Given the description of an element on the screen output the (x, y) to click on. 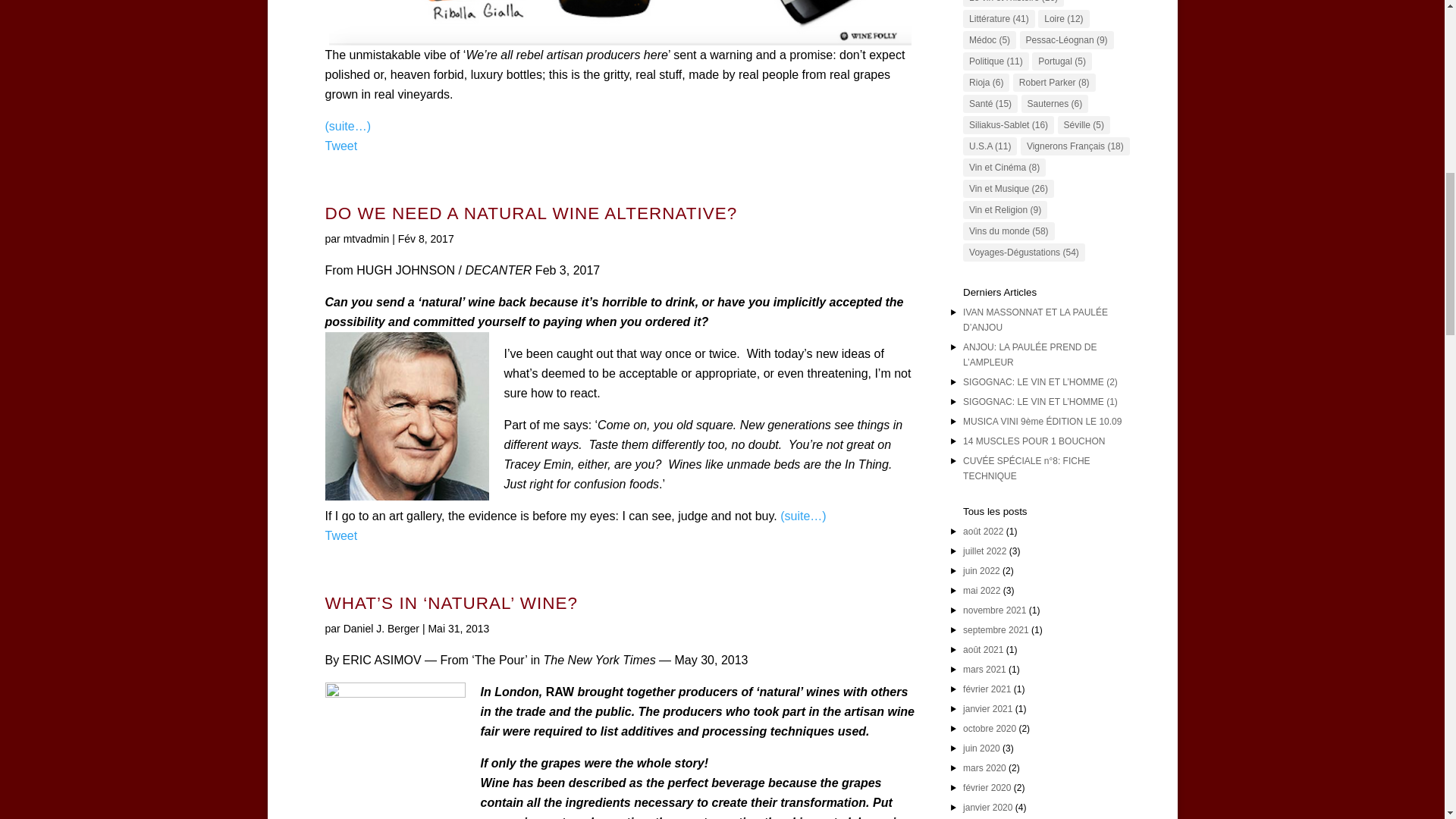
Tweet (340, 535)
Tweet (340, 145)
Articles de Daniel J. Berger (381, 628)
Daniel J. Berger (381, 628)
mtvadmin (366, 238)
DO WE NEED A NATURAL WINE ALTERNATIVE? (530, 212)
Articles de mtvadmin (366, 238)
